Given the description of an element on the screen output the (x, y) to click on. 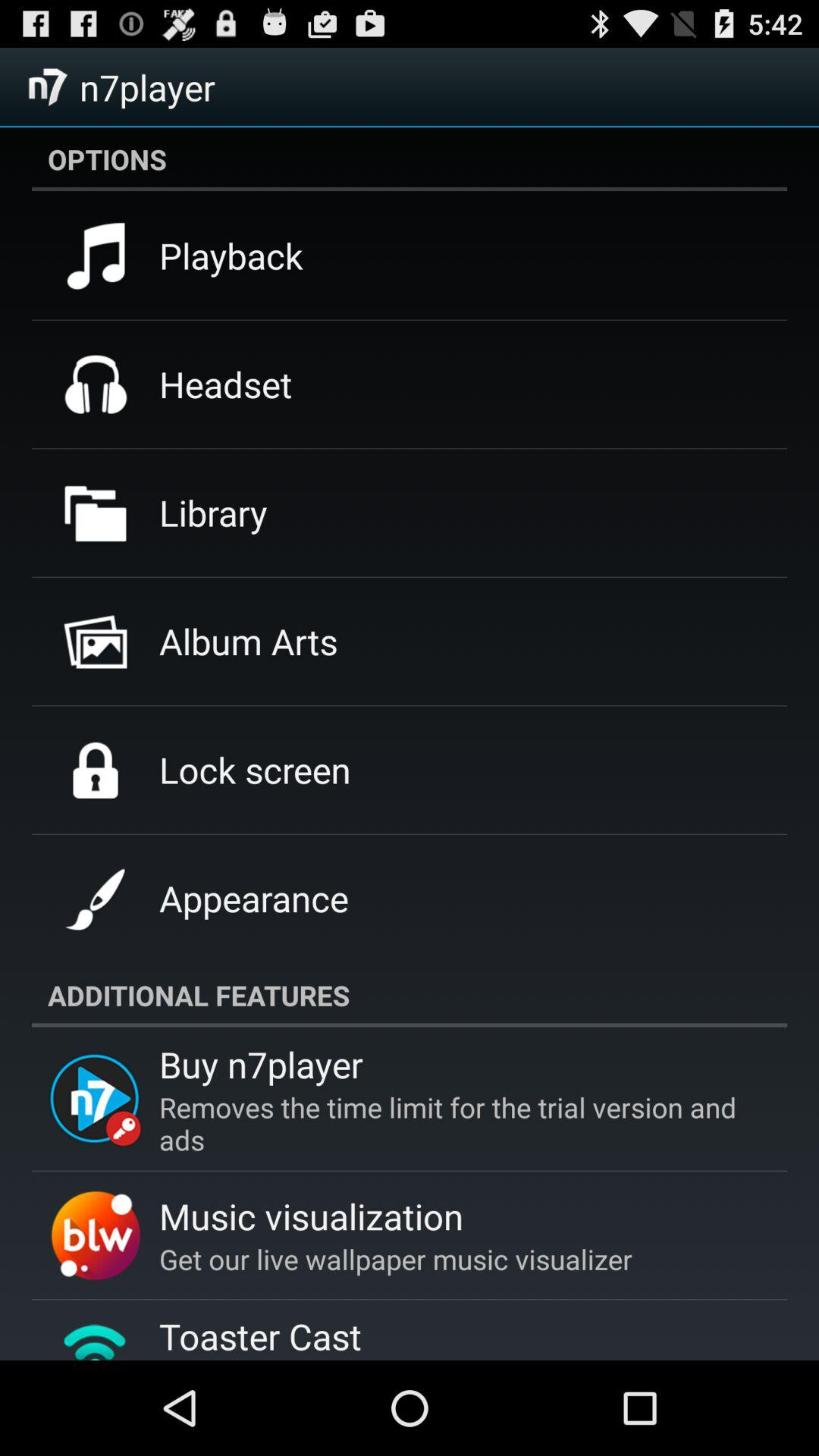
turn on the options at the top (409, 159)
